Given the description of an element on the screen output the (x, y) to click on. 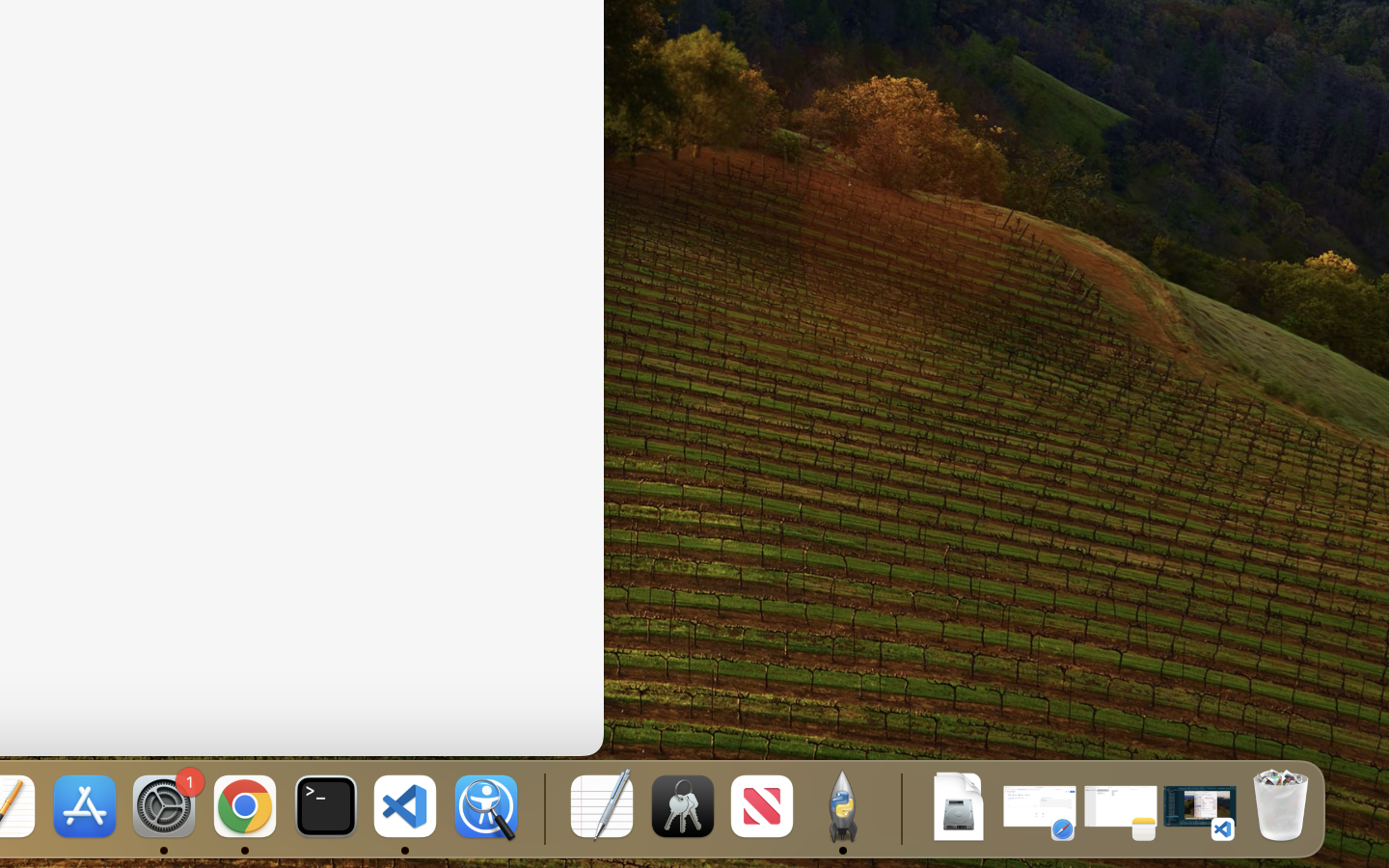
0.4285714328289032 Element type: AXDockItem (541, 807)
